Given the description of an element on the screen output the (x, y) to click on. 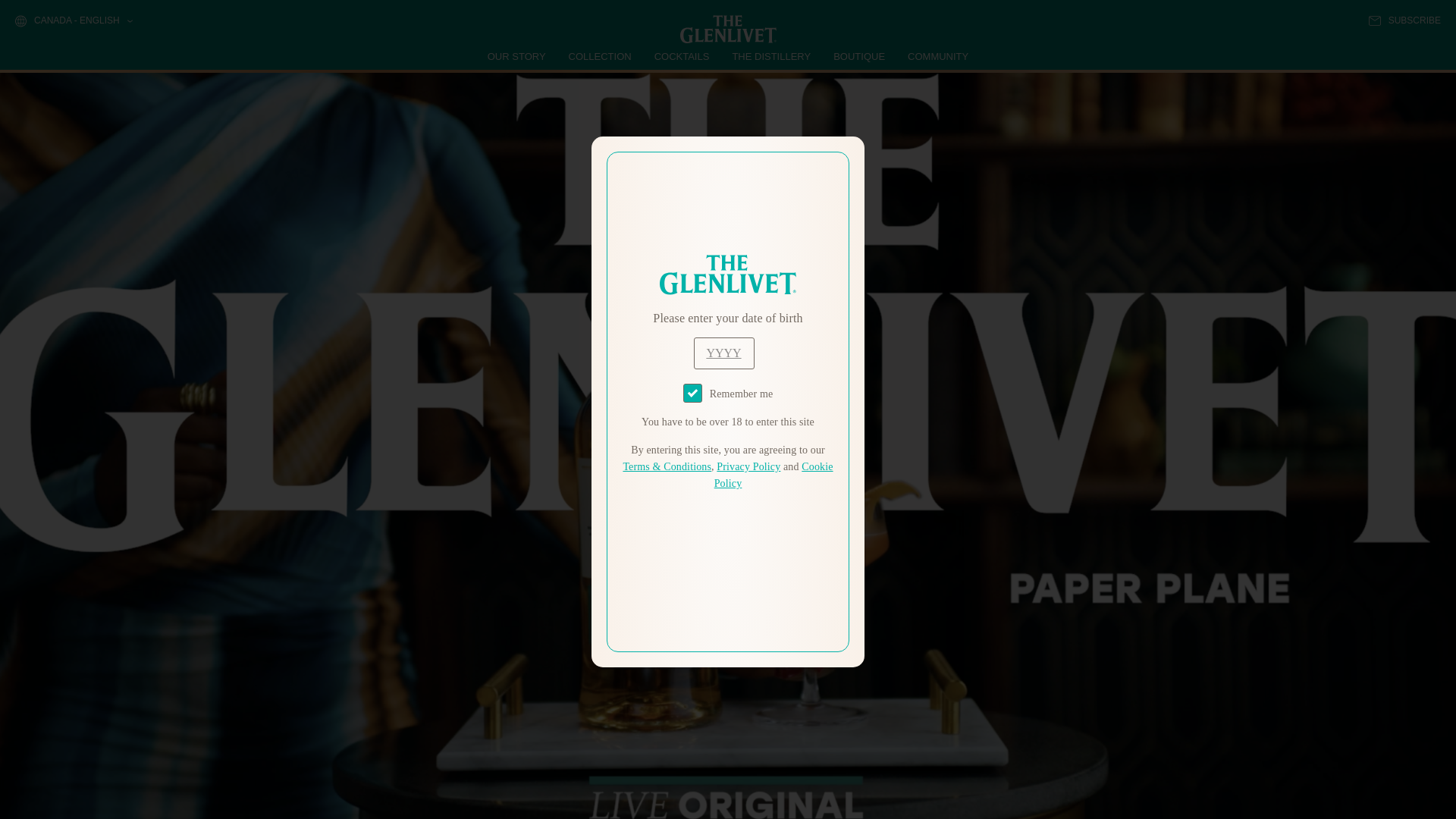
COMMUNITY (937, 56)
COLLECTION (600, 56)
OUR STORY (516, 56)
Privacy Policy (748, 466)
THE DISTILLERY (771, 56)
SUBSCRIBE (1404, 20)
BOUTIQUE (858, 56)
CANADA - ENGLISH (73, 21)
year (723, 353)
Cookie Policy (773, 474)
COCKTAILS (681, 56)
